Given the description of an element on the screen output the (x, y) to click on. 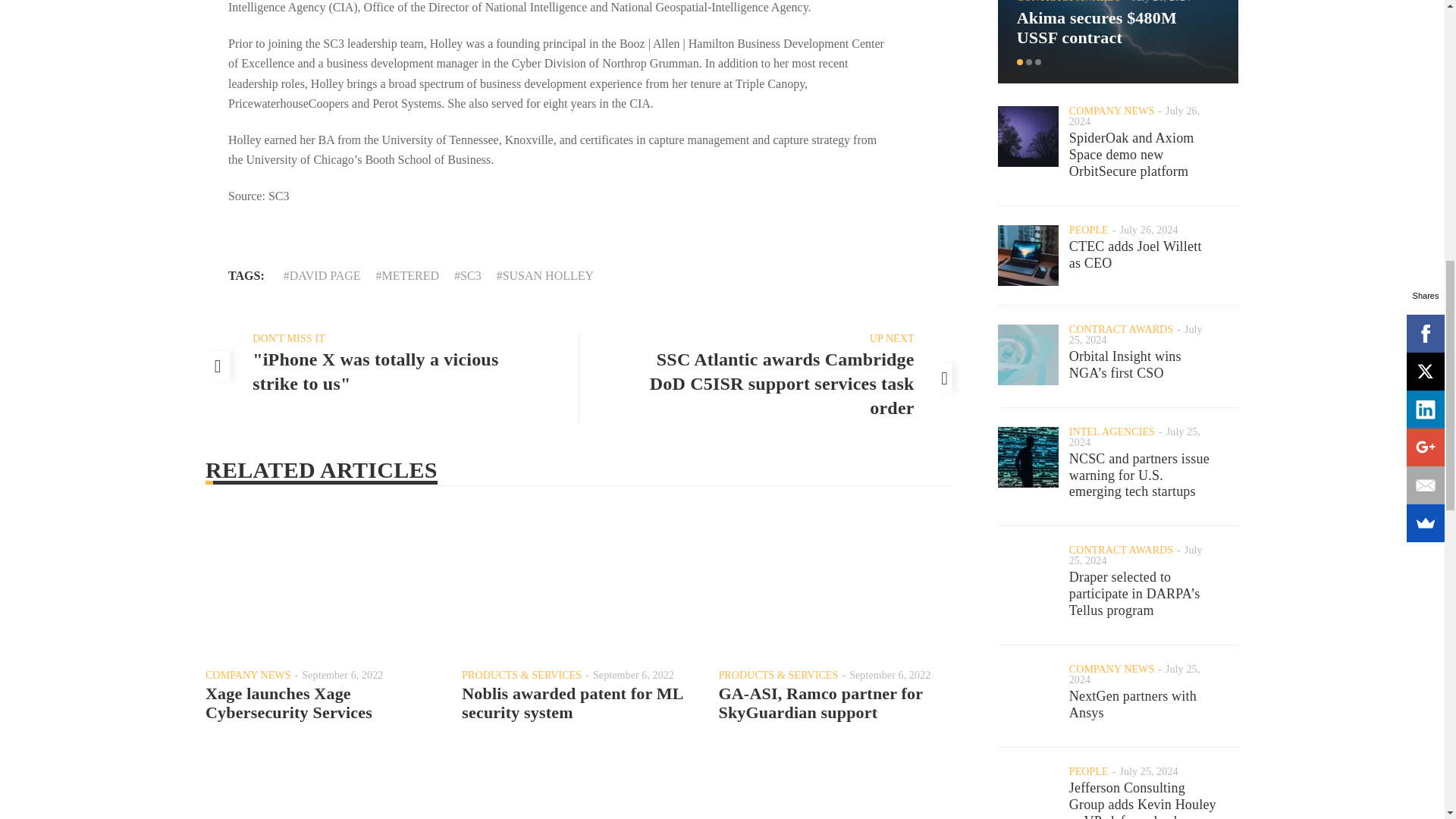
Xage launches Xage Cybersecurity Services (288, 702)
Noblis awarded patent for ML security system (571, 702)
"iPhone X was totally a vicious strike to us" (374, 371)
GA-ASI, Ramco partner for SkyGuardian support (819, 702)
